Given the description of an element on the screen output the (x, y) to click on. 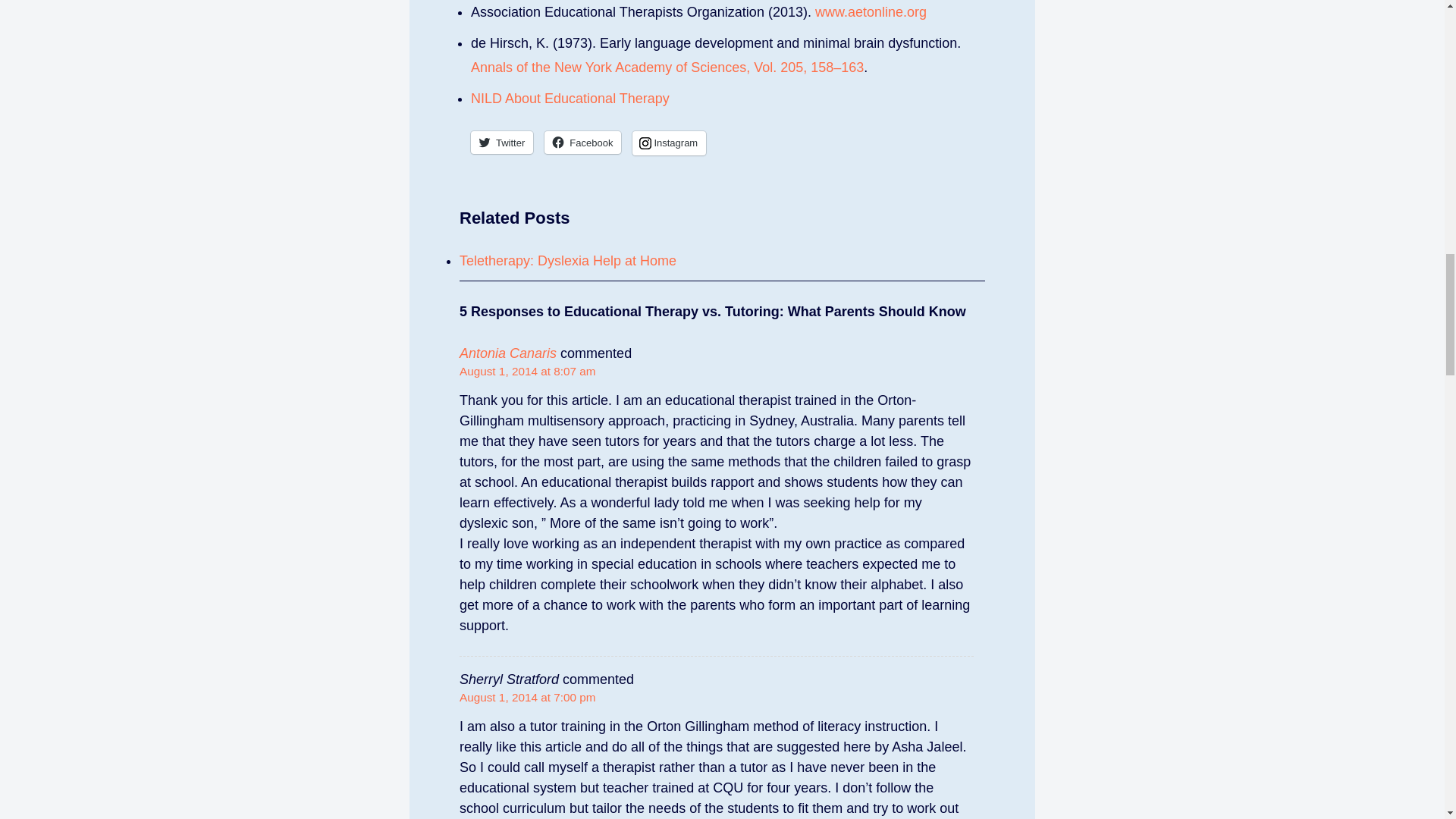
Click to share on Instagram (668, 142)
Click to share on Facebook (582, 141)
Click to share on Twitter (501, 141)
